Given the description of an element on the screen output the (x, y) to click on. 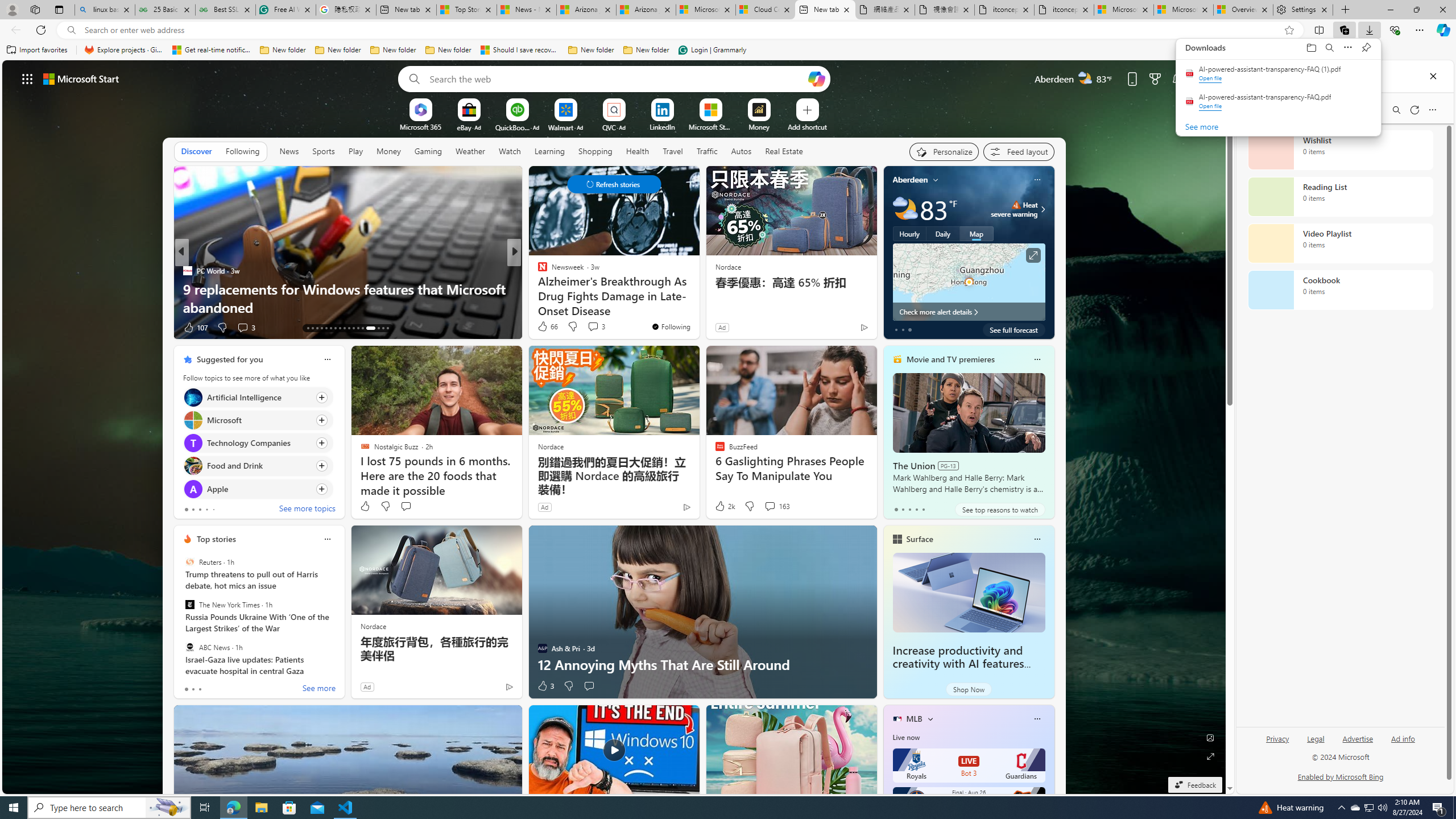
Aberdeen (910, 179)
Click to follow topic Artificial Intelligence (257, 397)
Ad info (1402, 743)
25 Basic Linux Commands For Beginners - GeeksforGeeks (164, 9)
Maritime Fixers (697, 307)
Enter your search term (617, 78)
linux basic - Search (104, 9)
The New York Times (189, 604)
View comments 3 Comment (596, 326)
More interests (930, 718)
